Given the description of an element on the screen output the (x, y) to click on. 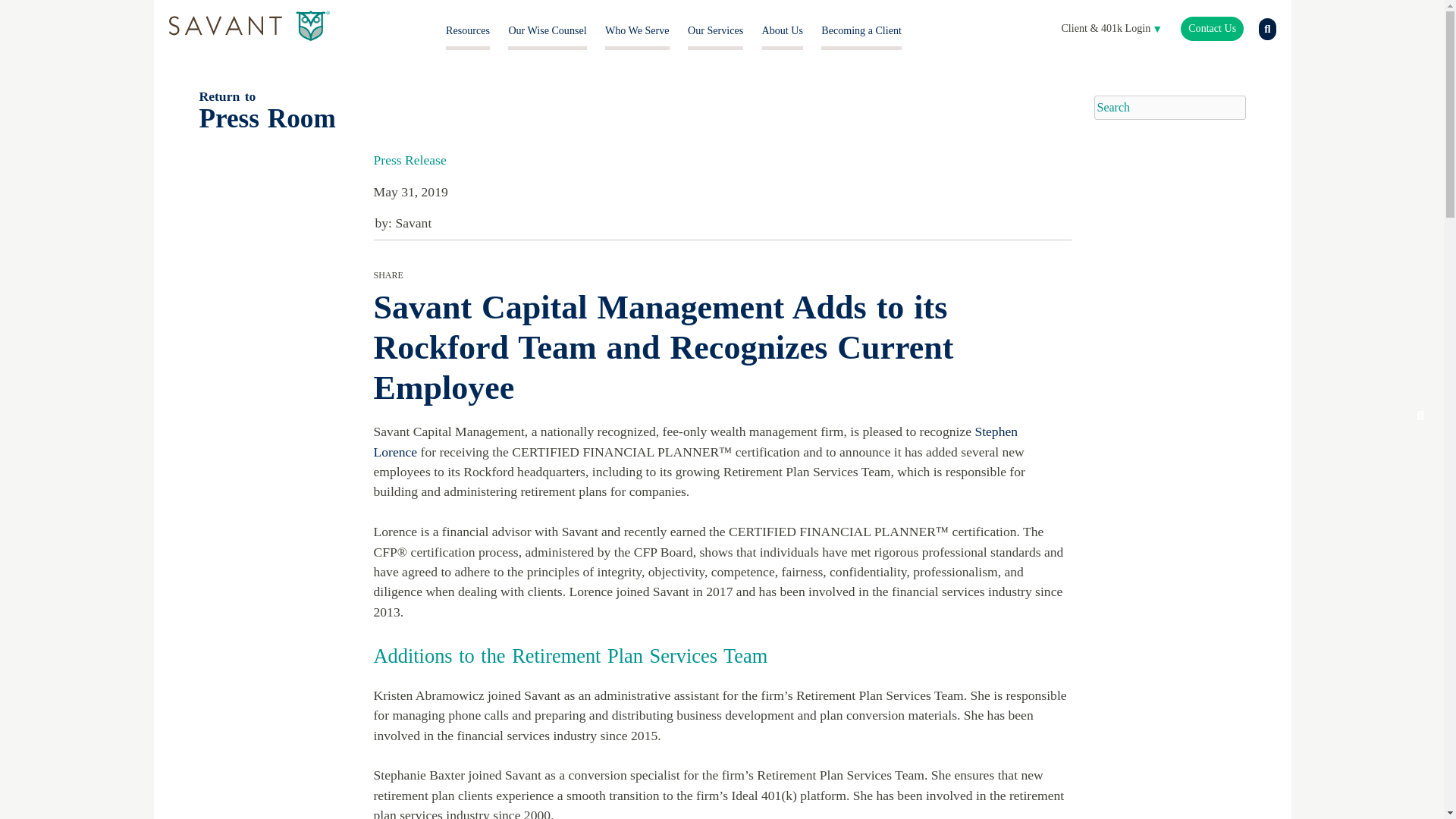
Our Wise Counsel (547, 30)
About Us (782, 30)
Who We Serve (637, 30)
Our Services (714, 30)
Resources (467, 30)
